Given the description of an element on the screen output the (x, y) to click on. 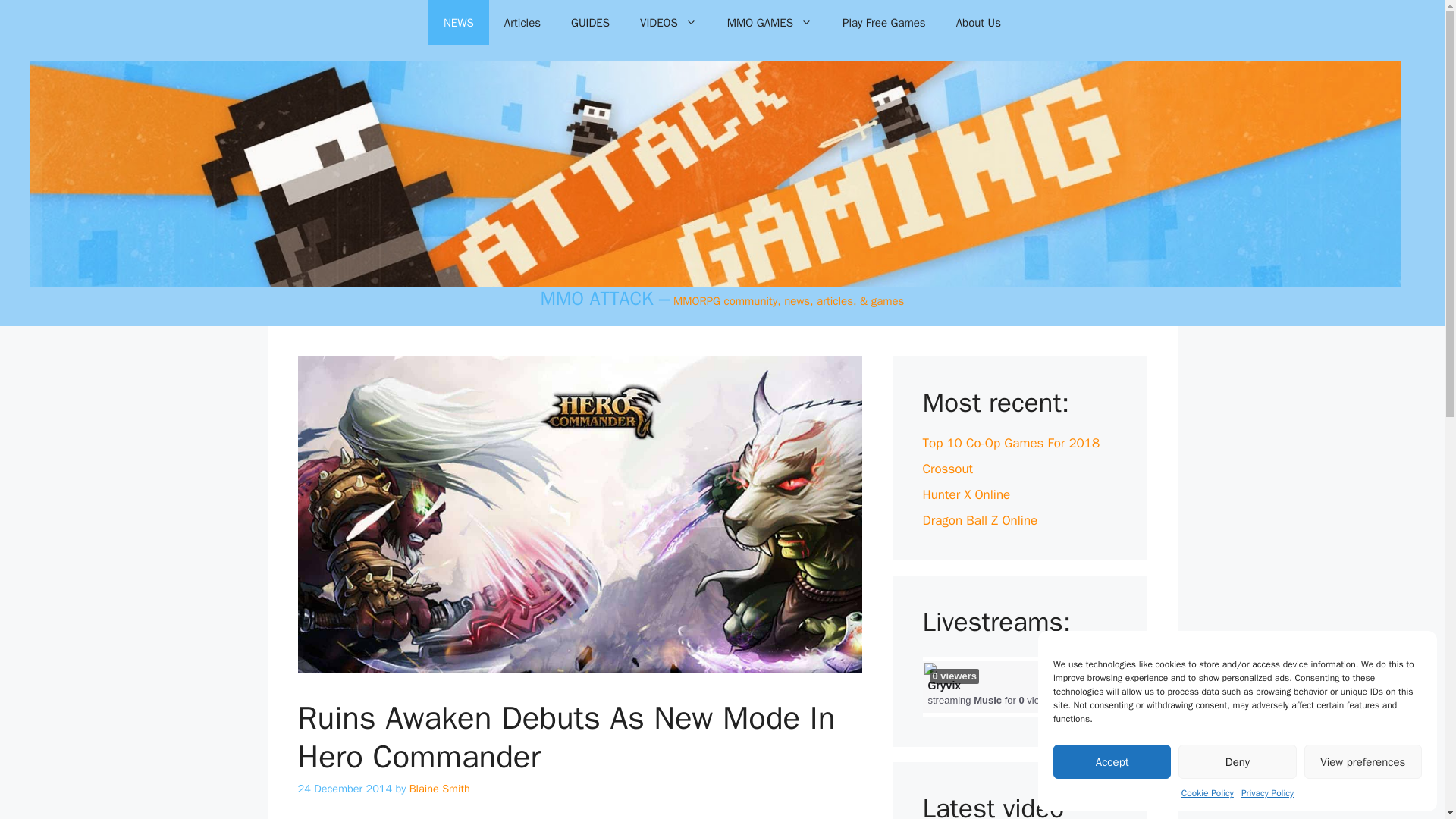
NEWS (458, 22)
Articles (522, 22)
View preferences (1363, 761)
View all posts by Blaine Smith (439, 788)
Cookie Policy (1206, 793)
VIDEOS (667, 22)
Accept (1111, 761)
Deny (1236, 761)
MMO GAMES (769, 22)
GUIDES (590, 22)
